Given the description of an element on the screen output the (x, y) to click on. 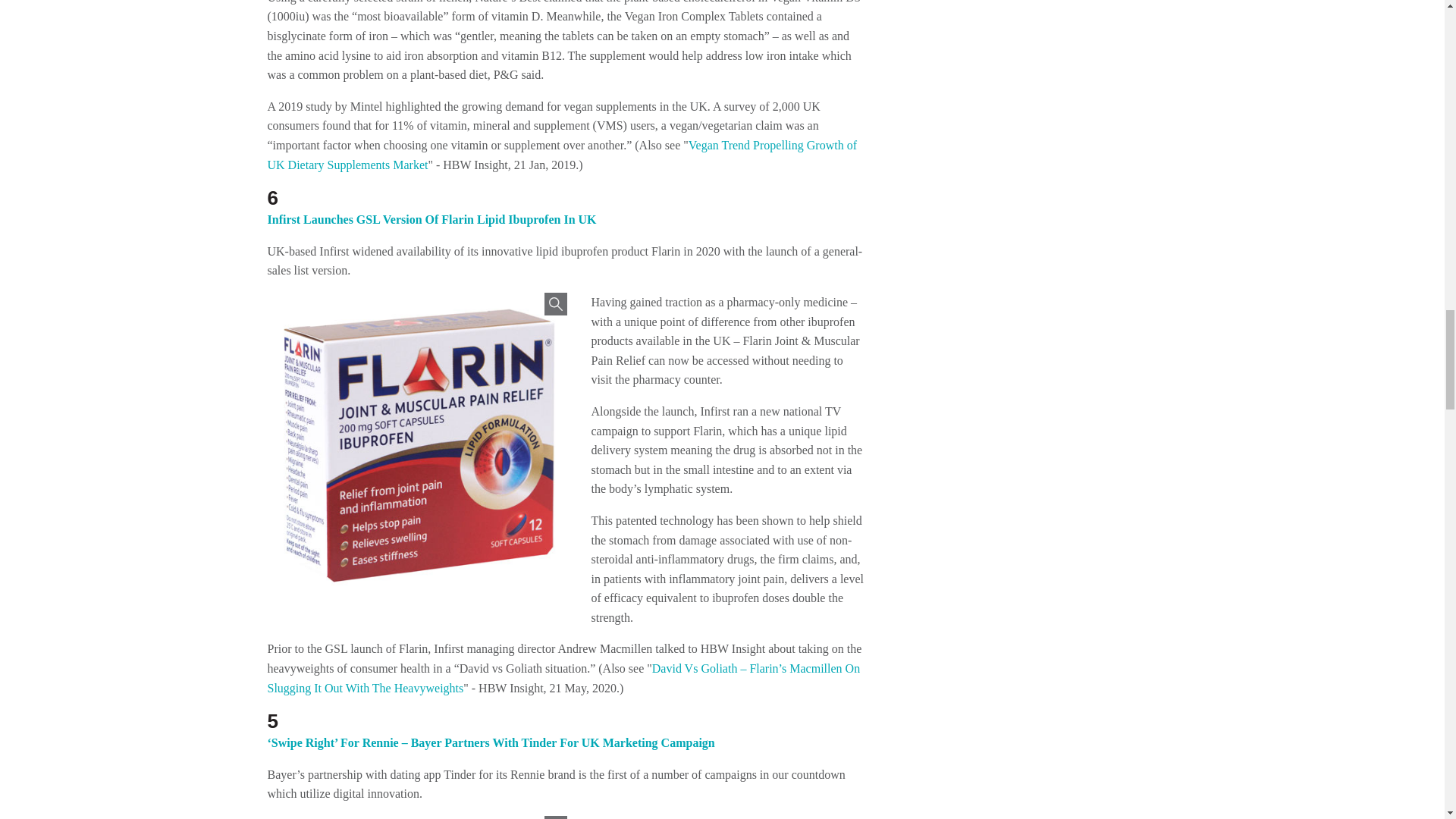
Flarin (416, 445)
